Given the description of an element on the screen output the (x, y) to click on. 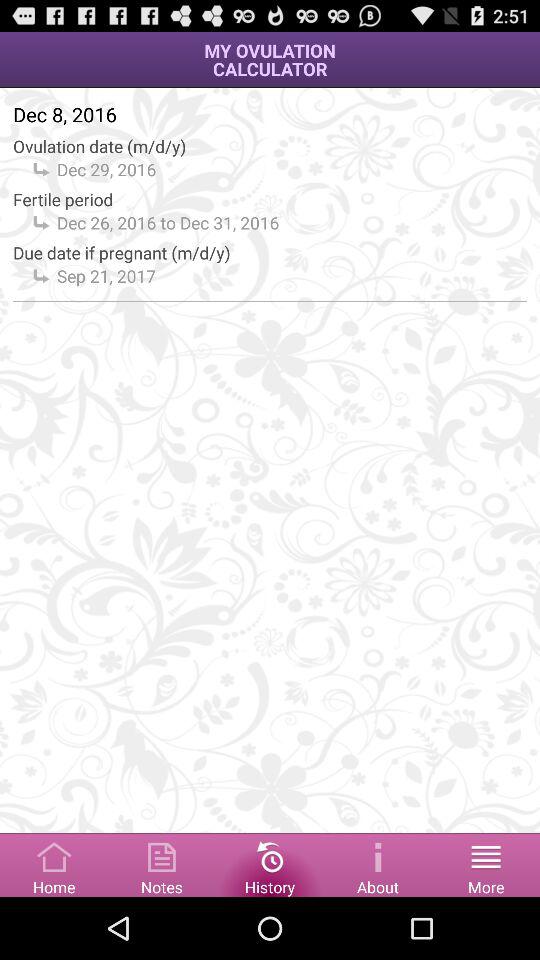
history (270, 864)
